Given the description of an element on the screen output the (x, y) to click on. 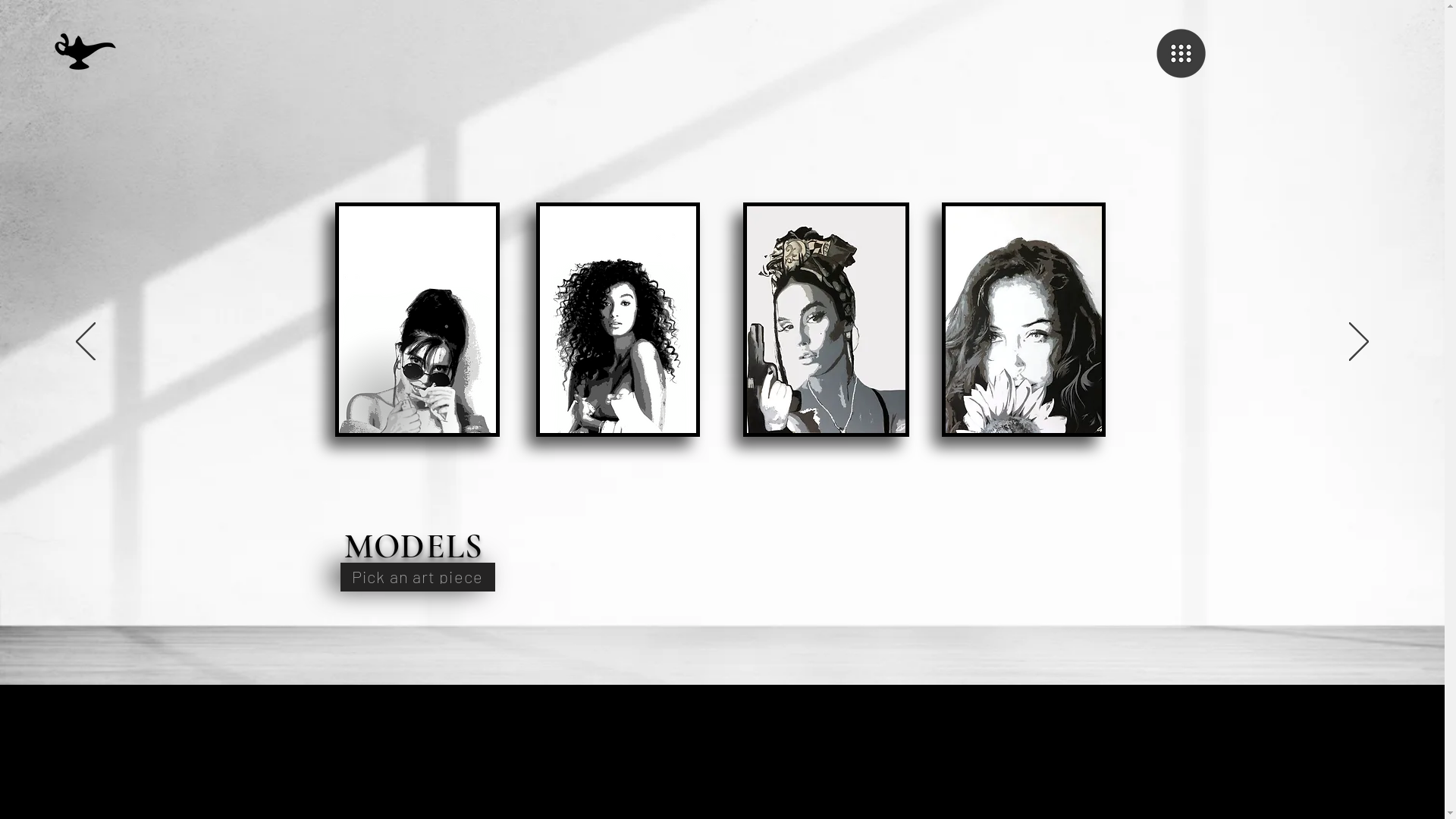
king 24x36.png Element type: hover (617, 319)
king 24x36.png Element type: hover (1023, 319)
king 24x36.png Element type: hover (417, 319)
Pick an art piece Element type: text (416, 576)
Untitled_Artwork 5.png Element type: hover (83, 52)
king 24x36.png Element type: hover (826, 319)
